Given the description of an element on the screen output the (x, y) to click on. 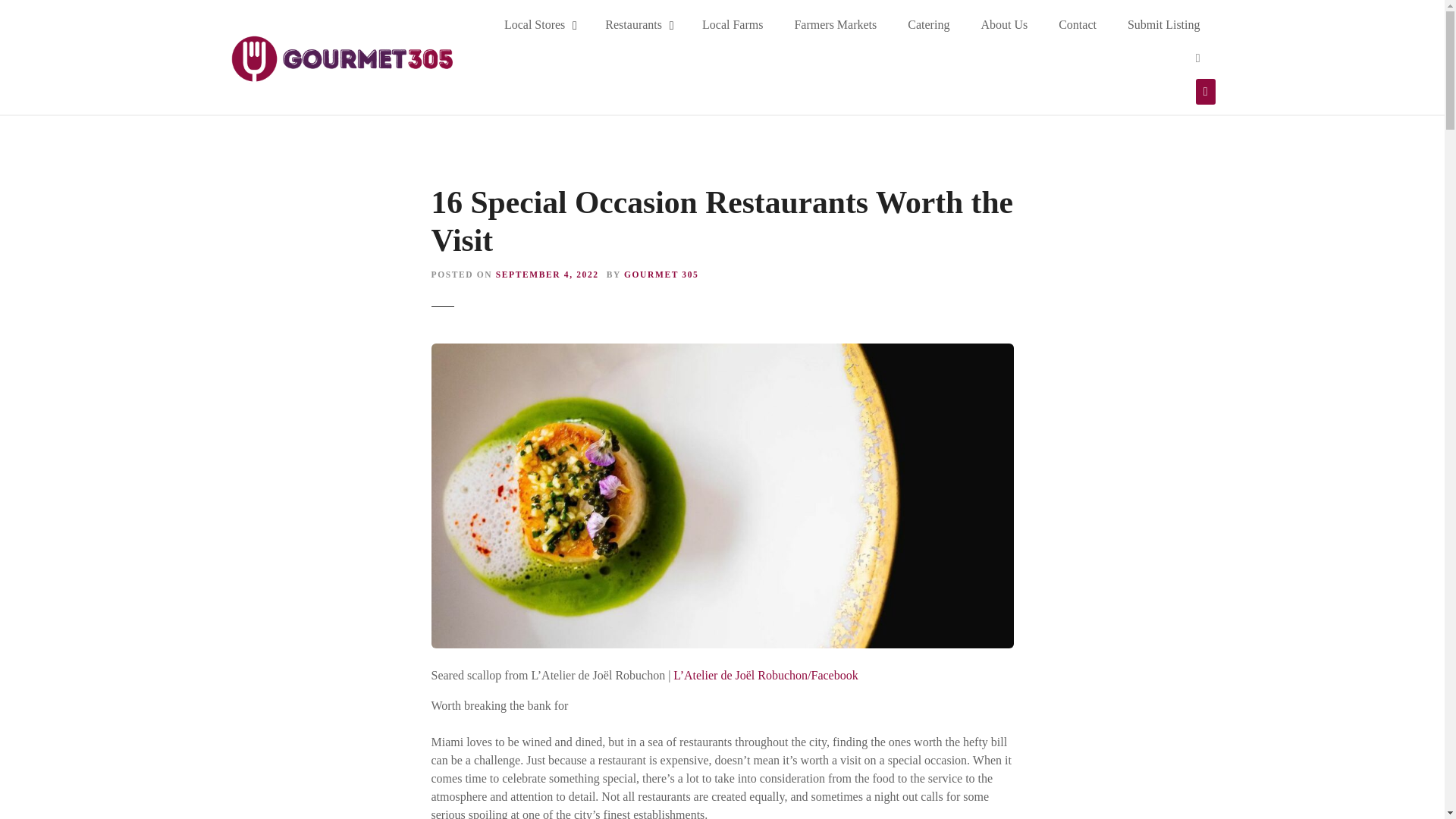
Farmers Markets (834, 24)
Catering (927, 24)
Local Stores (539, 24)
Restaurants (637, 24)
16 Special Occasion Restaurants Worth the Visit (721, 351)
Local Farms (732, 24)
